Given the description of an element on the screen output the (x, y) to click on. 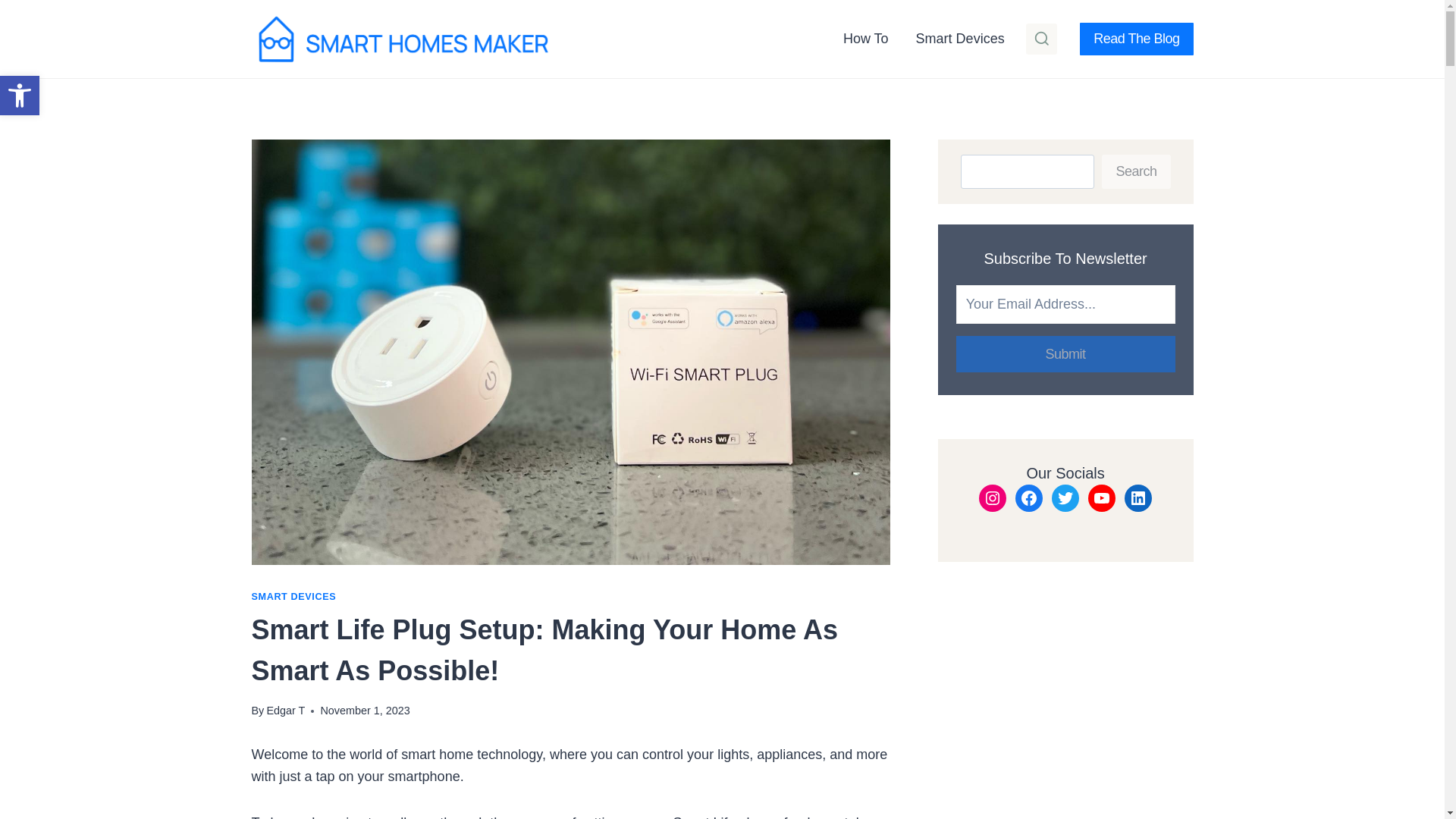
Read The Blog (1136, 38)
Accessibility Tools (19, 95)
SMART DEVICES (293, 596)
Accessibility Tools (19, 95)
How To (865, 38)
Smart Devices (959, 38)
Edgar T (285, 710)
